Given the description of an element on the screen output the (x, y) to click on. 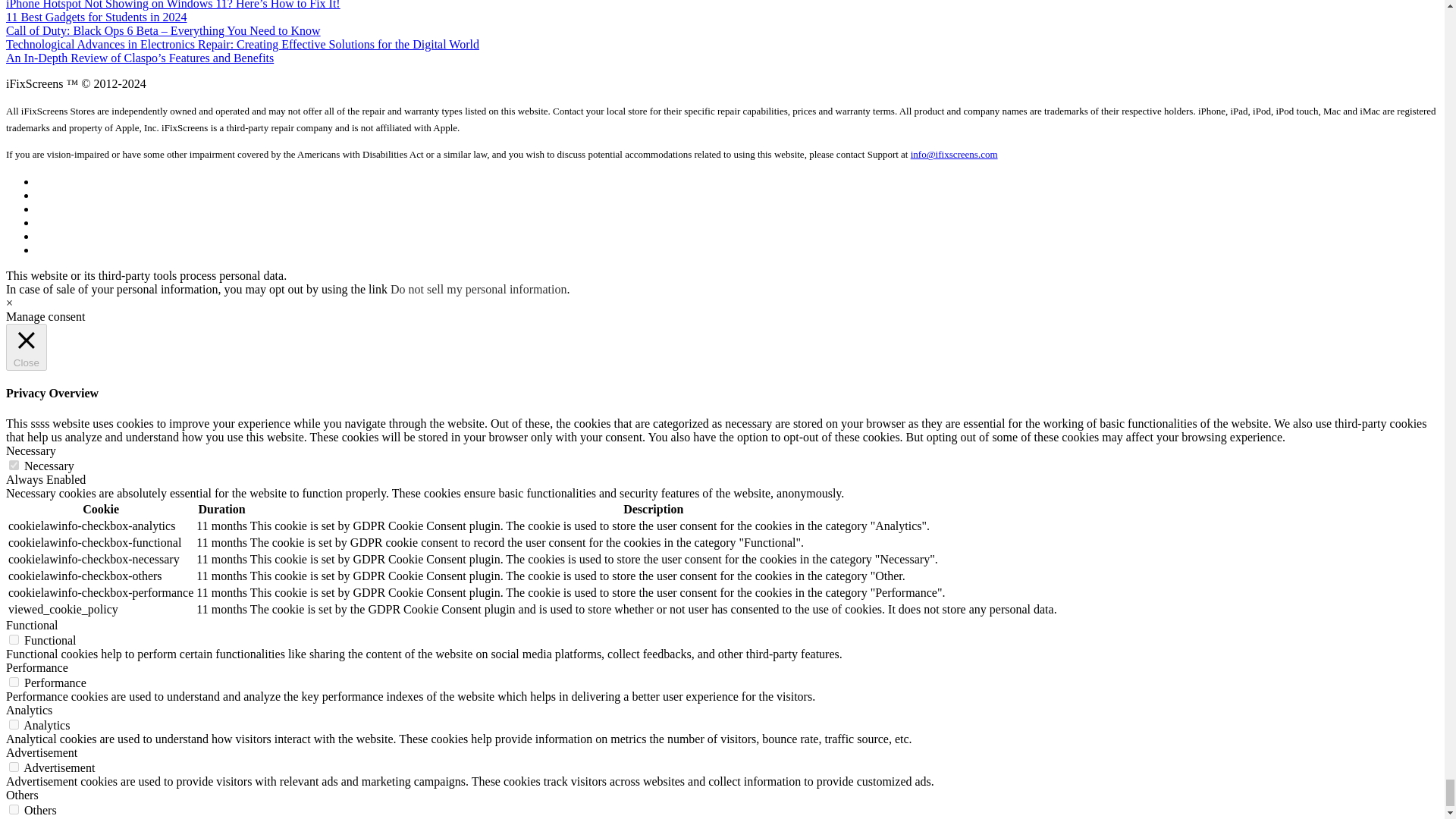
on (13, 465)
on (13, 809)
on (13, 639)
on (13, 682)
on (13, 724)
on (13, 767)
